Given the description of an element on the screen output the (x, y) to click on. 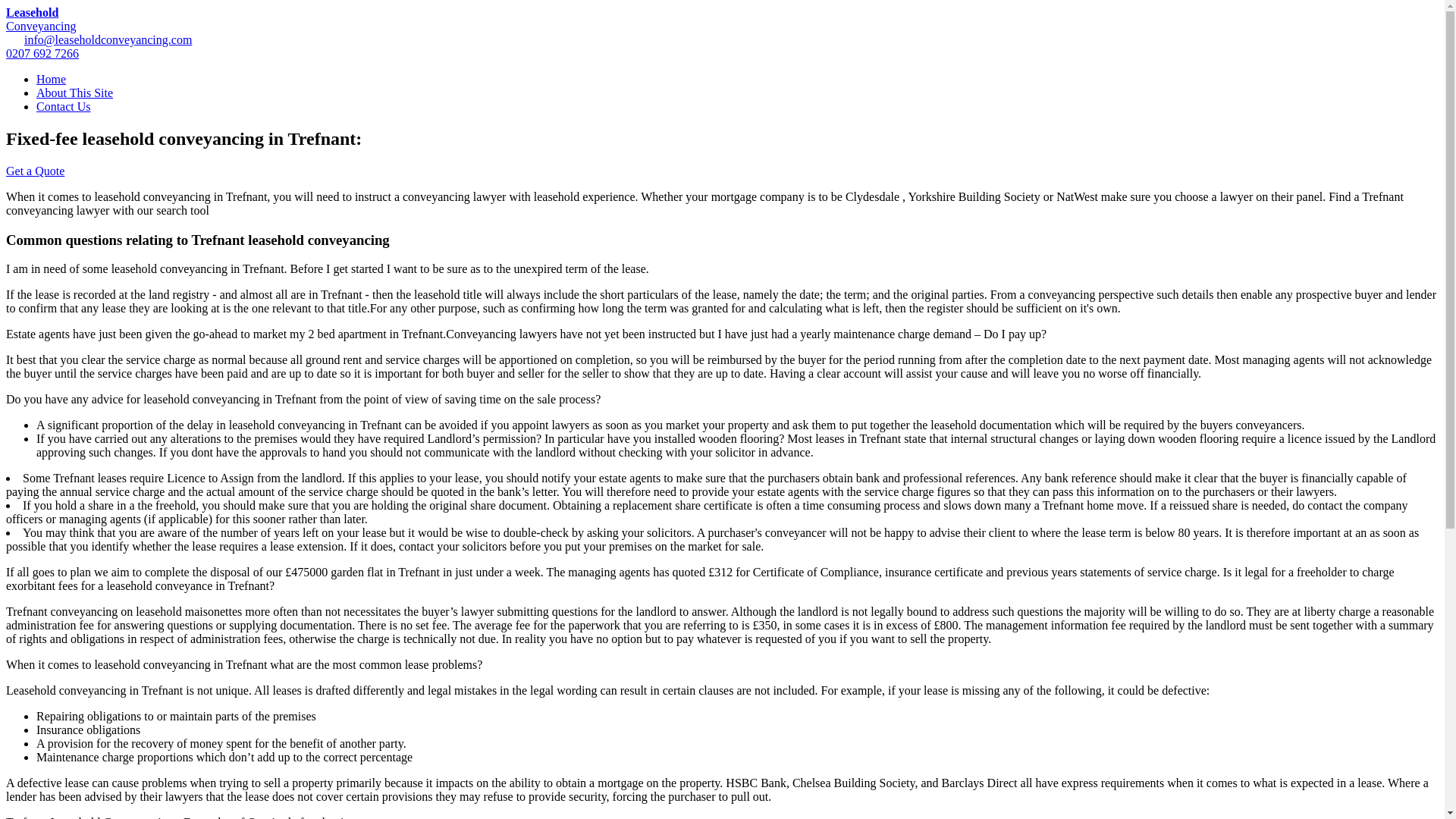
0207 692 7266 (40, 18)
Get a Quote (41, 52)
Contact Us (34, 170)
Home (63, 106)
About This Site (50, 78)
